Given the description of an element on the screen output the (x, y) to click on. 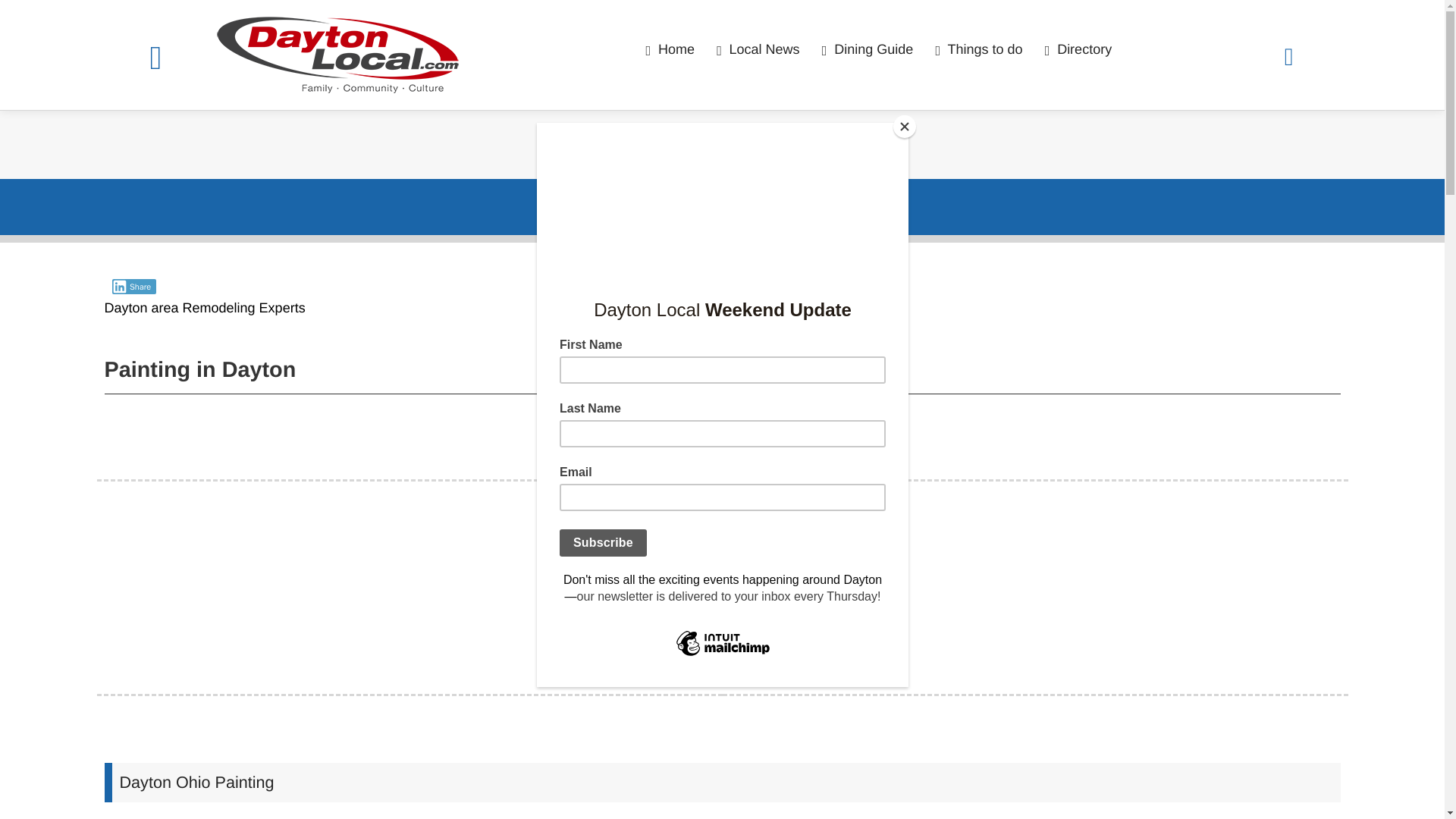
Dayton Local (361, 54)
Things to do (975, 48)
Home (667, 48)
Dining Guide (866, 48)
Local News (756, 48)
